Given the description of an element on the screen output the (x, y) to click on. 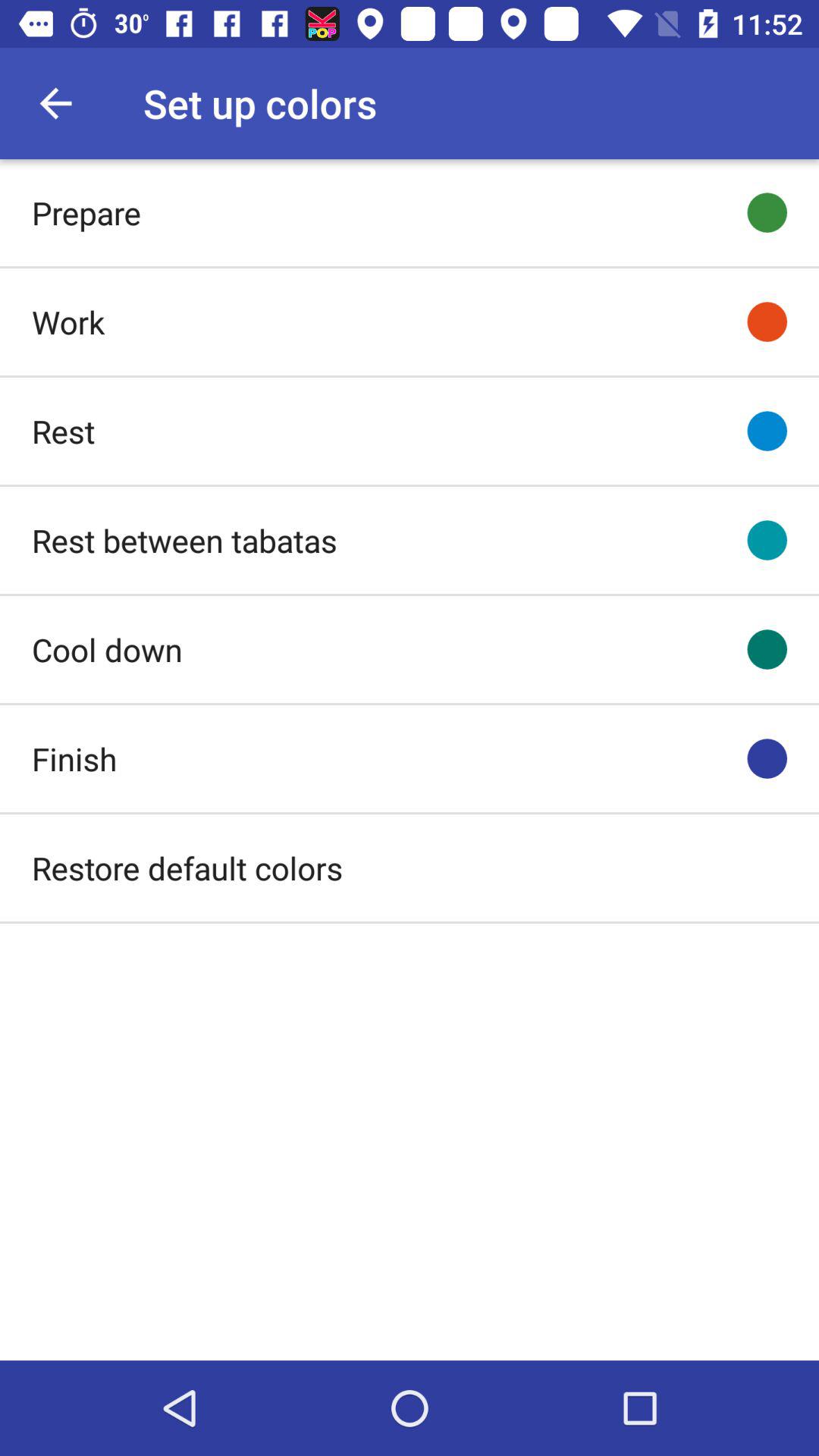
click icon below finish (186, 867)
